Given the description of an element on the screen output the (x, y) to click on. 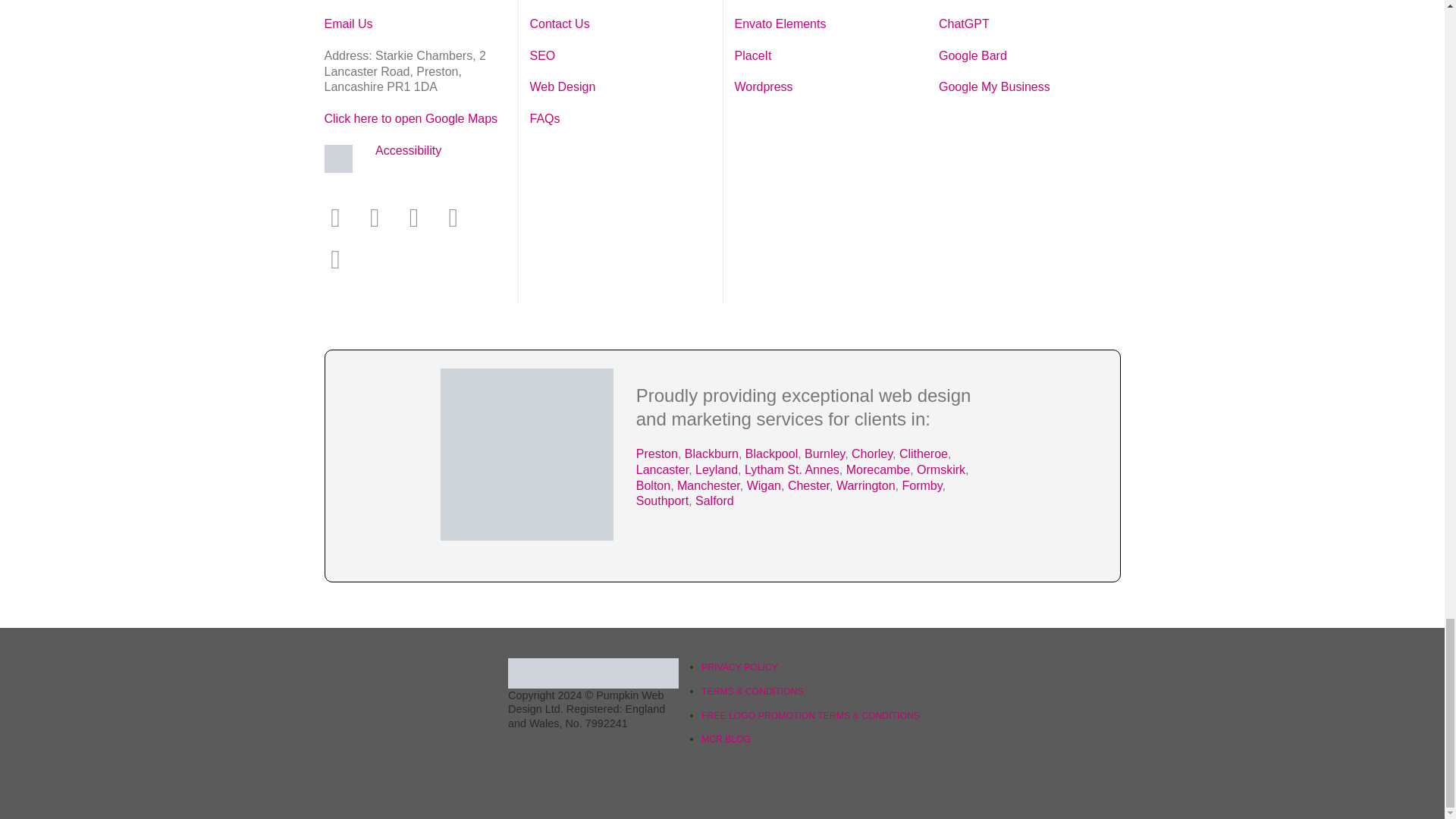
Follow on Twitter (422, 217)
Follow on LinkedIn (462, 217)
Follow on Instagram (382, 217)
Follow on Facebook (343, 217)
